Given the description of an element on the screen output the (x, y) to click on. 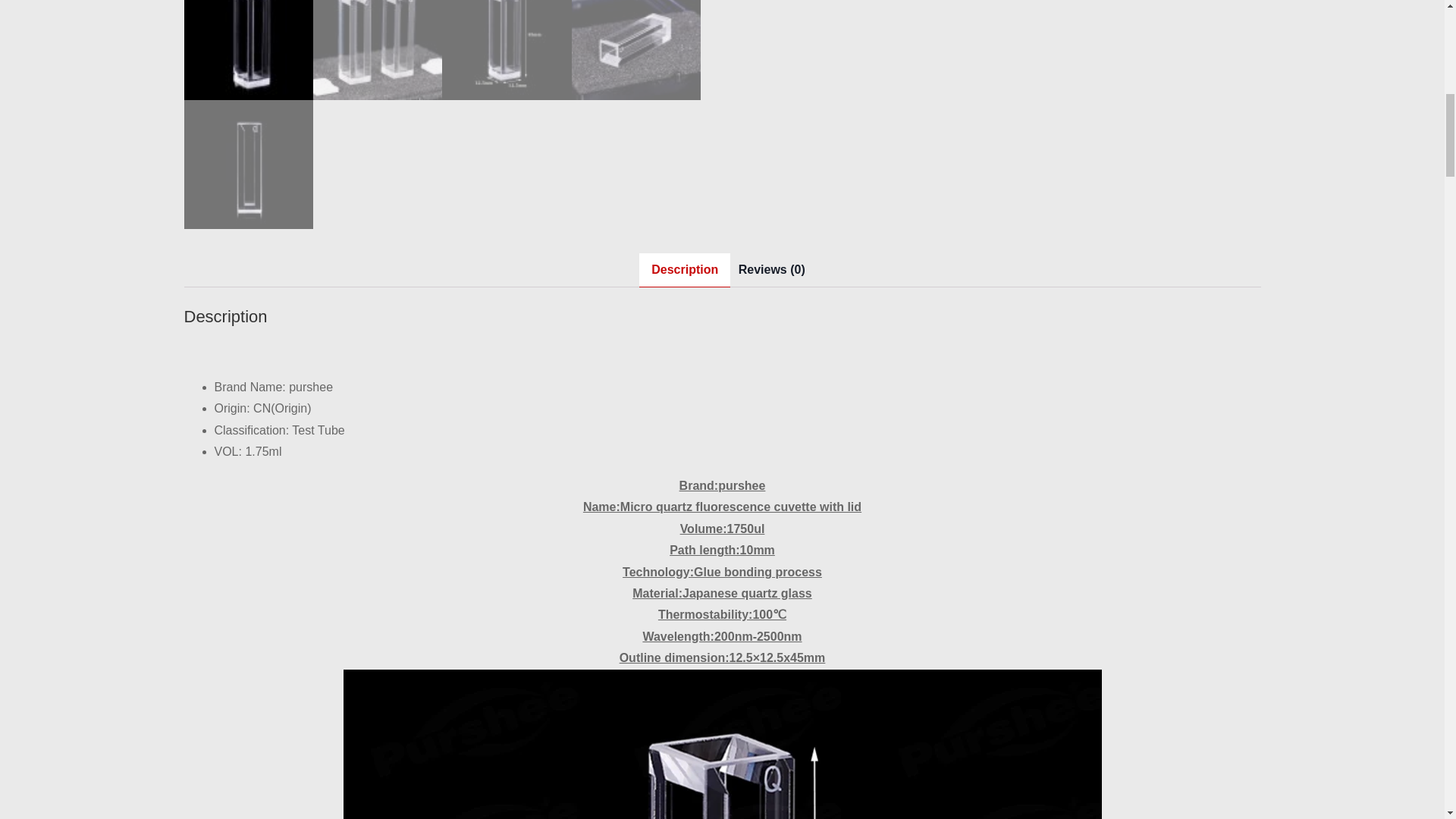
Description (683, 269)
